Given the description of an element on the screen output the (x, y) to click on. 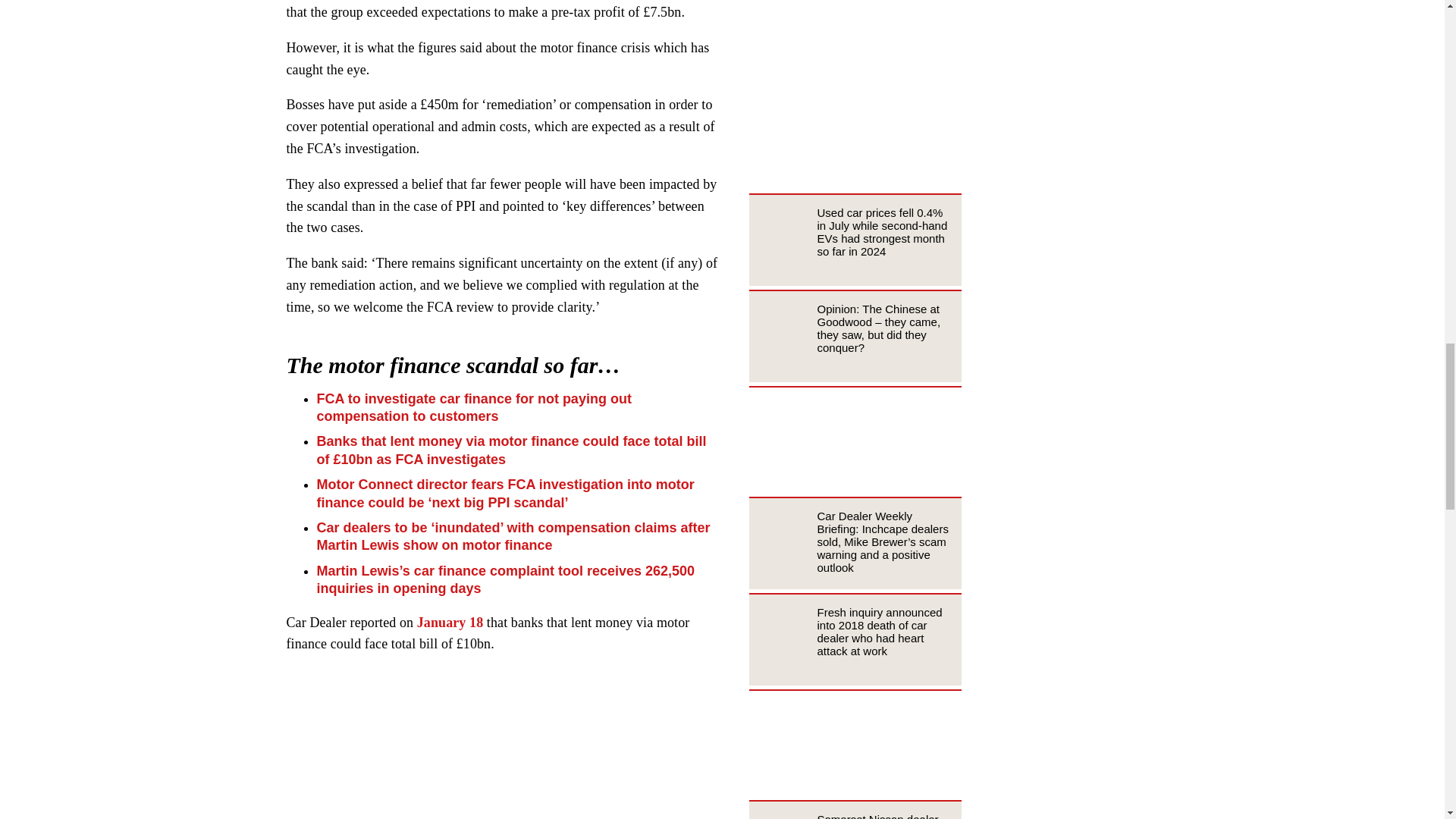
January 18 (449, 621)
